Given the description of an element on the screen output the (x, y) to click on. 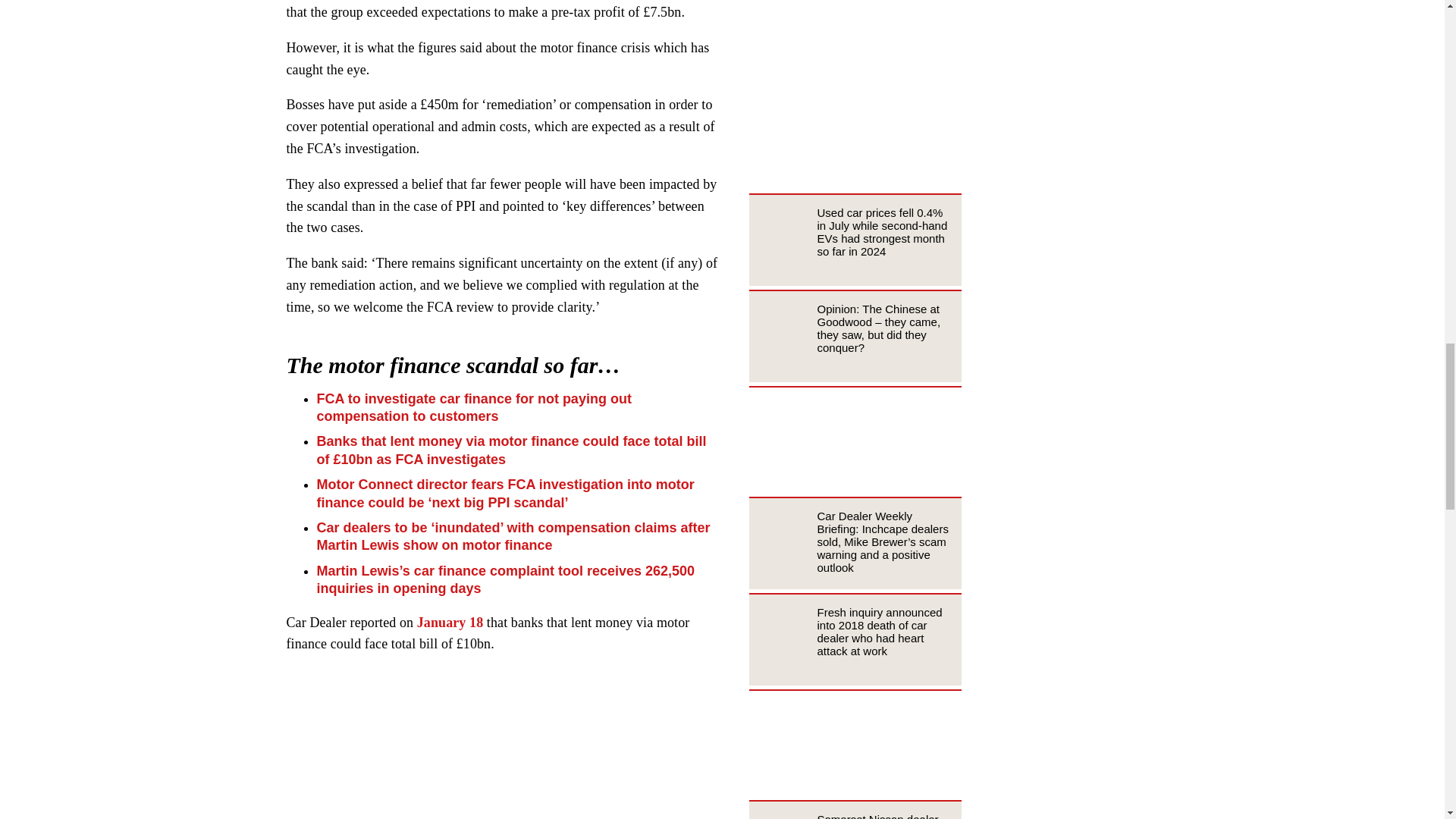
January 18 (449, 621)
